Given the description of an element on the screen output the (x, y) to click on. 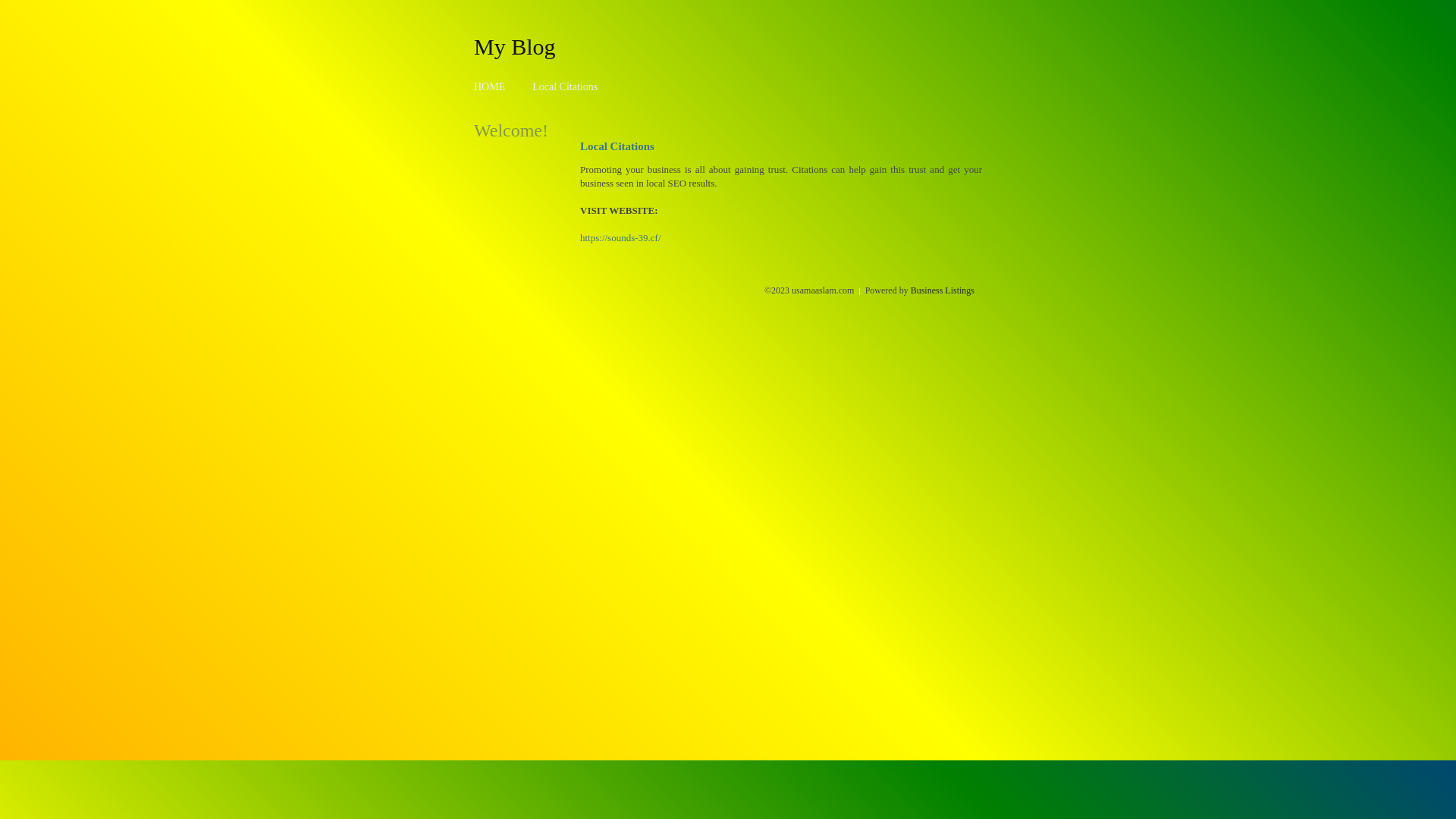
HOME Element type: text (489, 86)
Local Citations Element type: text (564, 86)
Business Listings Element type: text (942, 290)
https://sounds-39.cf/ Element type: text (620, 237)
My Blog Element type: text (514, 46)
